Given the description of an element on the screen output the (x, y) to click on. 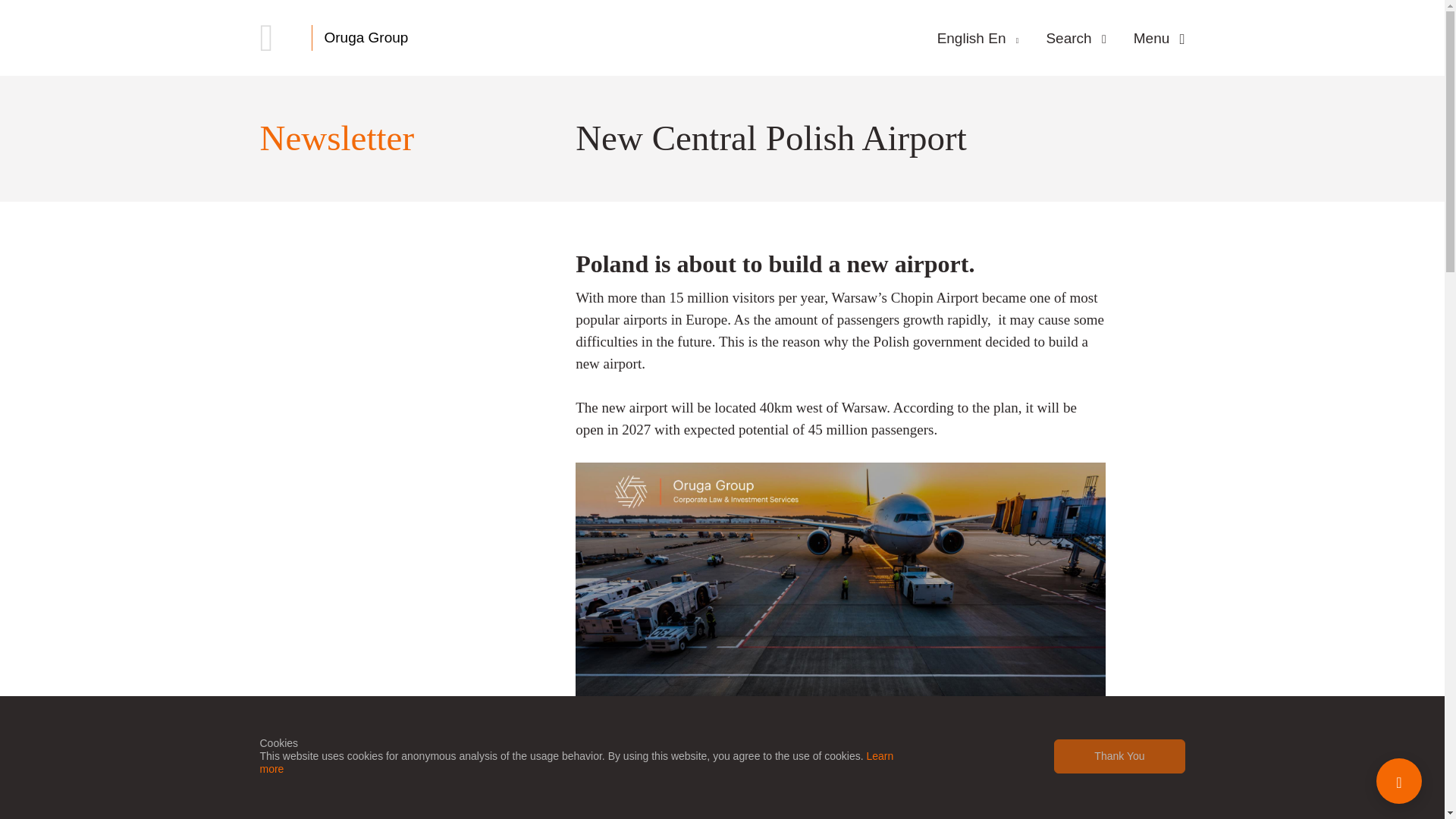
Search (1075, 37)
English En (978, 37)
Menu (1159, 37)
Oruga Group (366, 37)
